Given the description of an element on the screen output the (x, y) to click on. 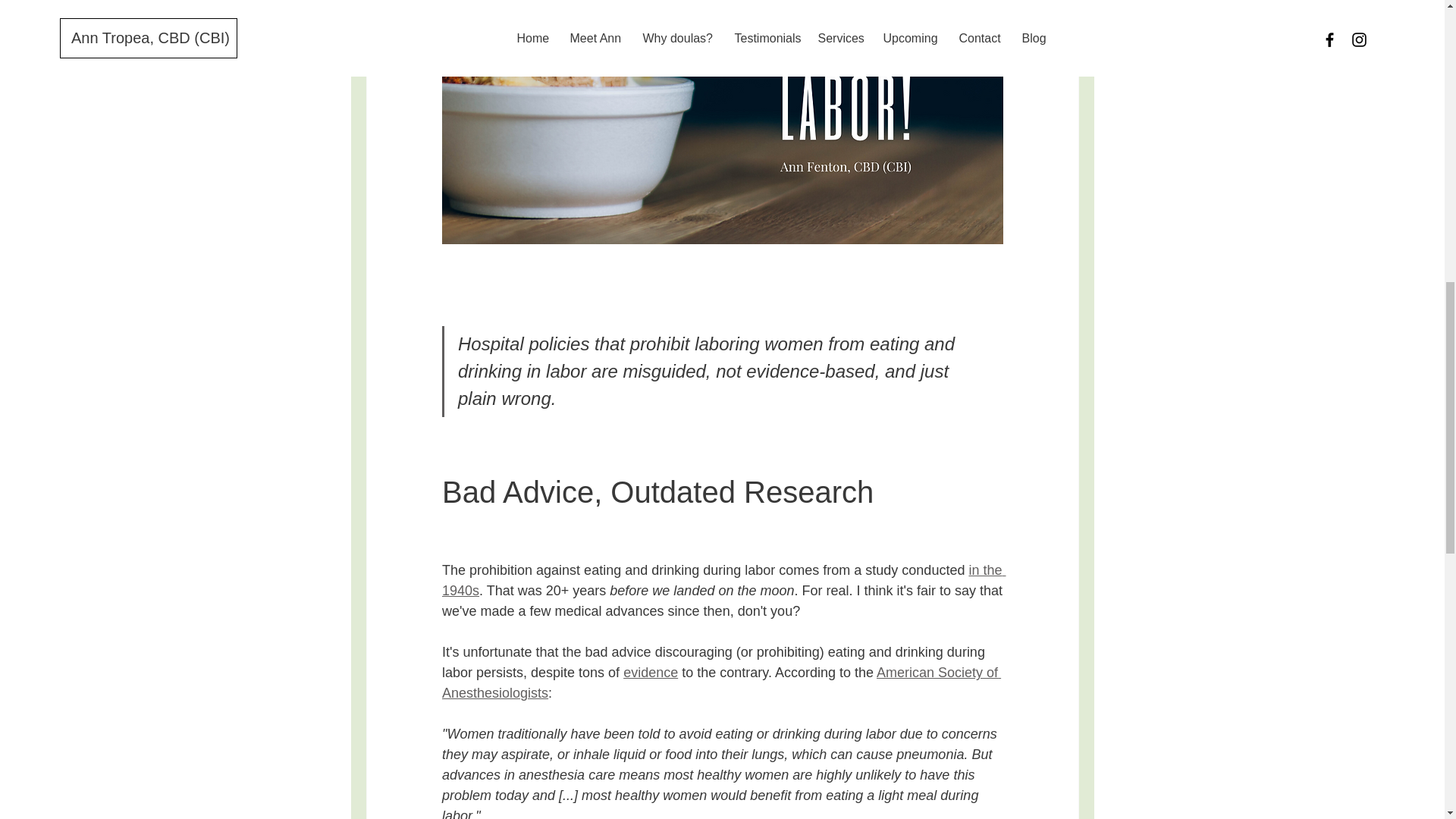
American Society of Anesthesiologists (720, 683)
evidence (650, 672)
in the 1940s (722, 580)
